Given the description of an element on the screen output the (x, y) to click on. 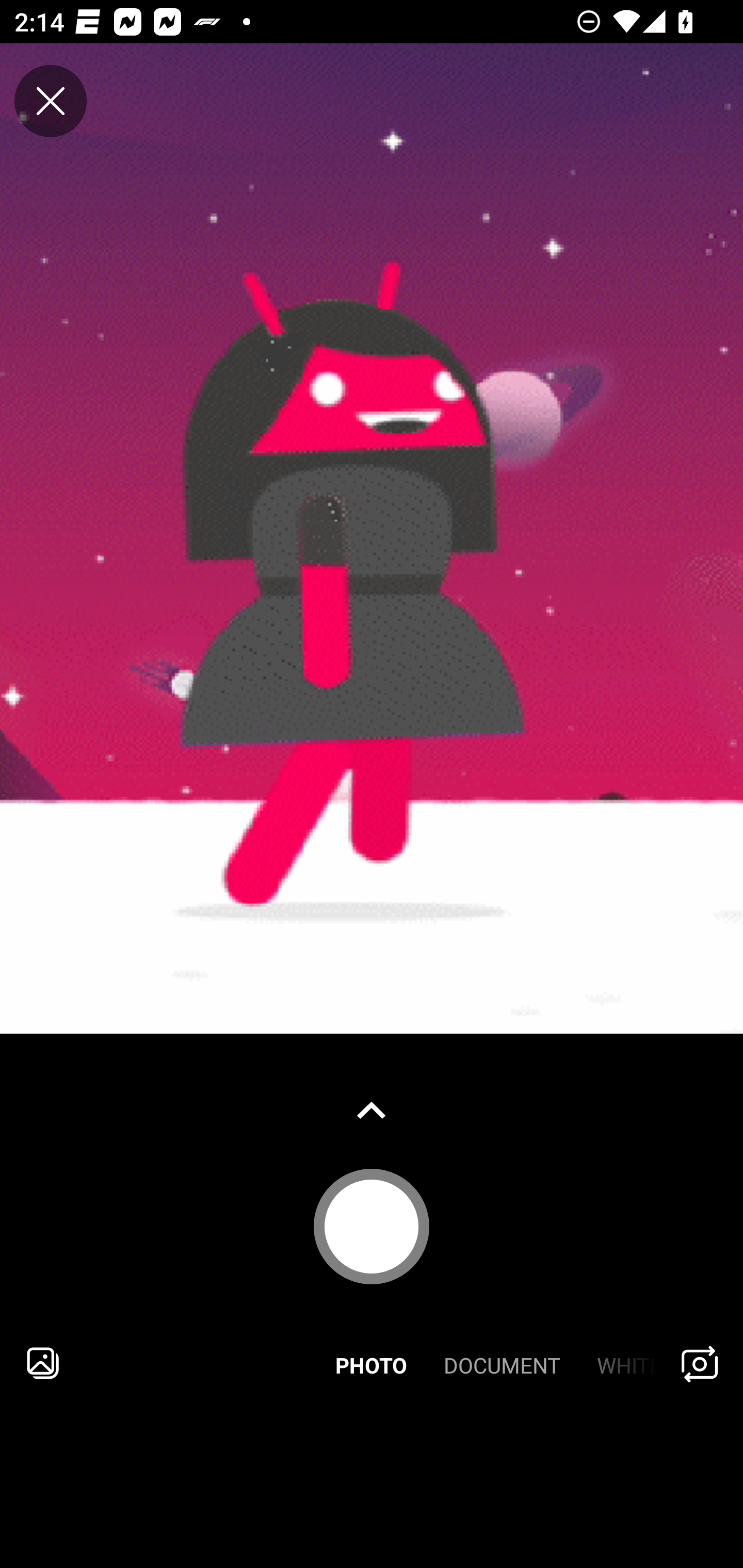
Close (50, 101)
Show gallery (371, 1110)
Capture (371, 1226)
Import (43, 1363)
Flip Camera (699, 1363)
PHOTO (371, 1362)
DOCUMENT (502, 1362)
WHITEBOARD (619, 1362)
